Given the description of an element on the screen output the (x, y) to click on. 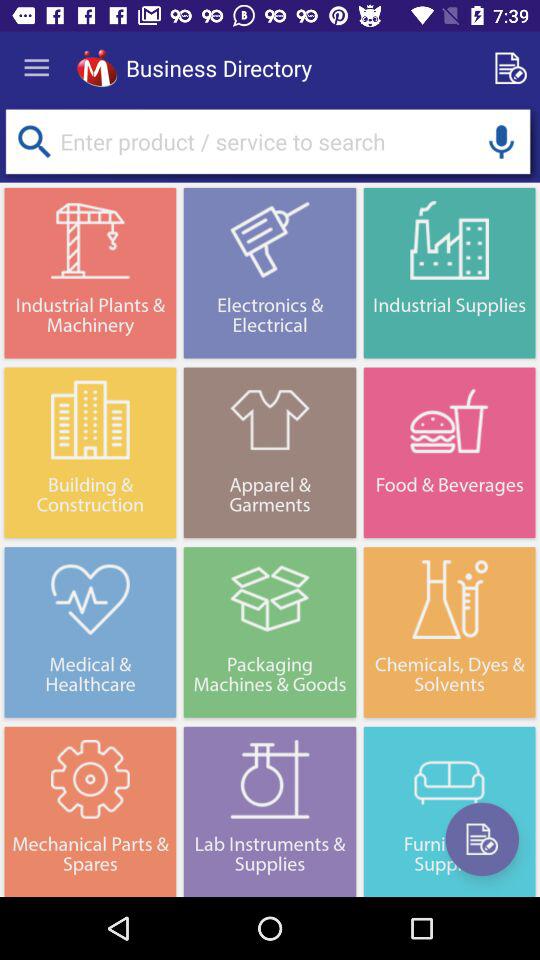
new advertisement (514, 68)
